Given the description of an element on the screen output the (x, y) to click on. 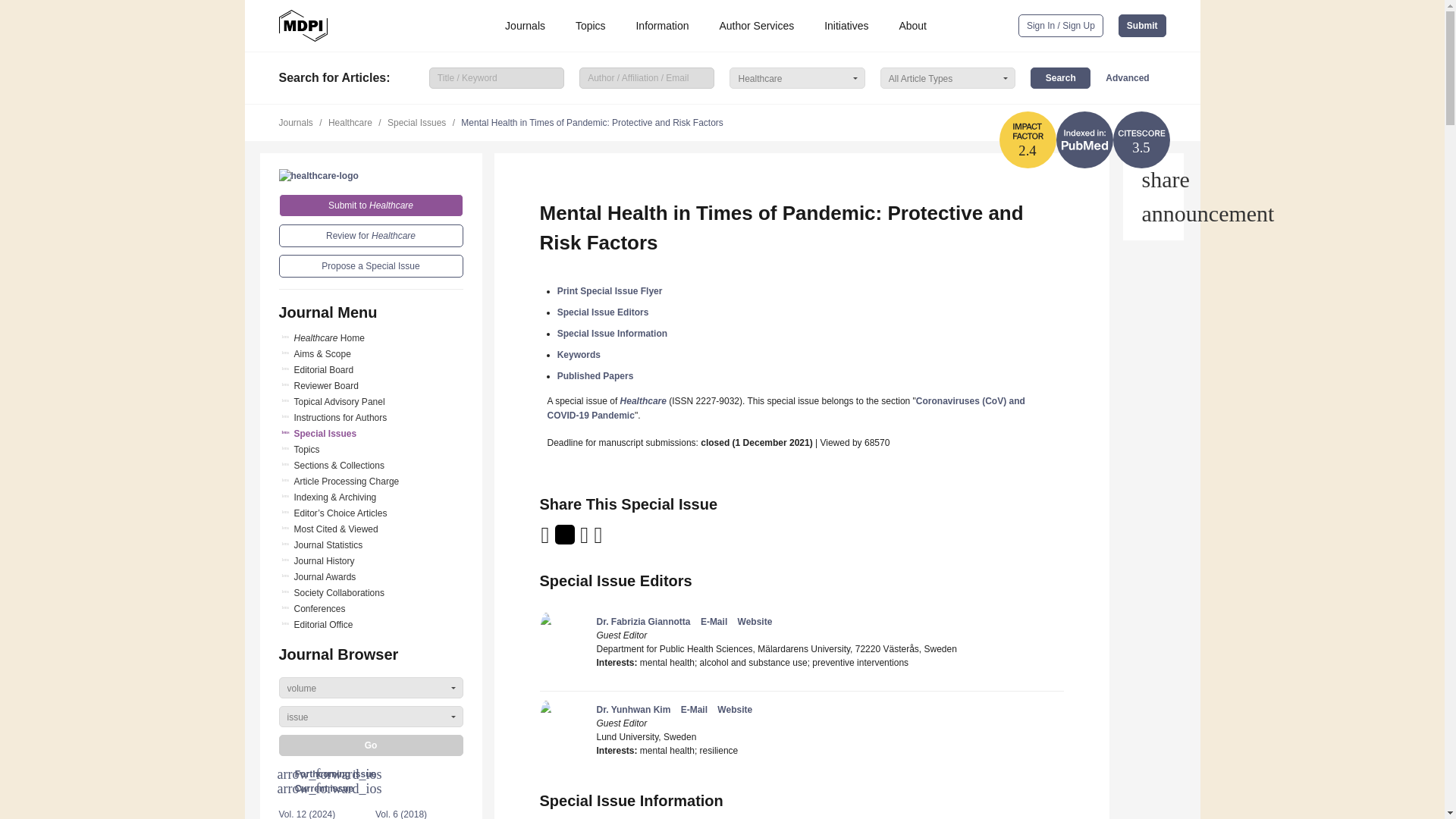
Wechat (617, 539)
Share (1152, 179)
Search (1060, 77)
Healthcare (318, 175)
MDPI Open Access Journals (303, 25)
Help (1152, 213)
Email (546, 539)
Twitter (565, 539)
Search (1060, 77)
LinkedIn (585, 539)
Go (371, 744)
facebook (599, 539)
